Given the description of an element on the screen output the (x, y) to click on. 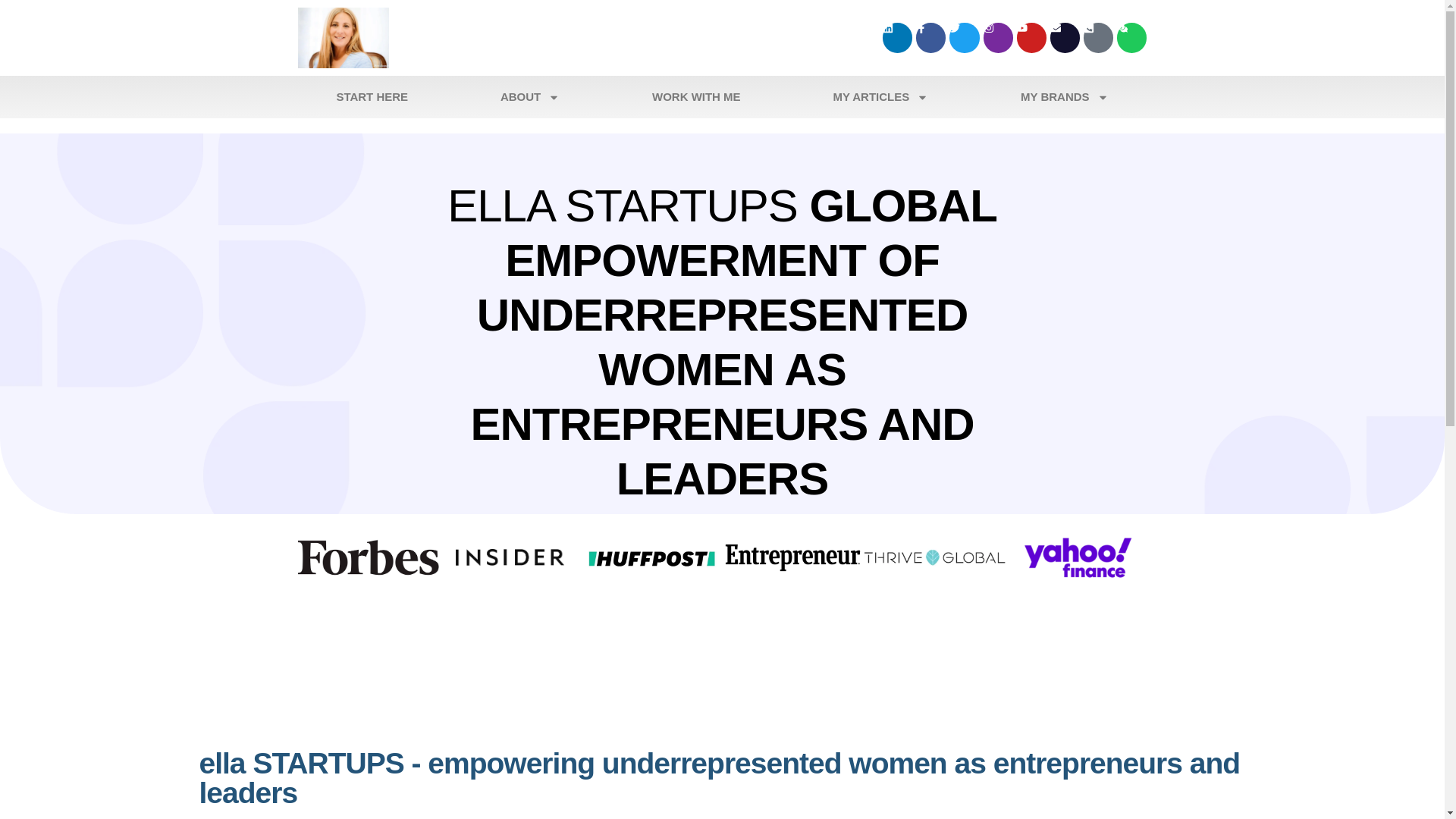
WORK WITH ME (695, 96)
MY ARTICLES (881, 96)
START HERE (371, 96)
MY BRANDS (1064, 96)
ABOUT (529, 96)
